Given the description of an element on the screen output the (x, y) to click on. 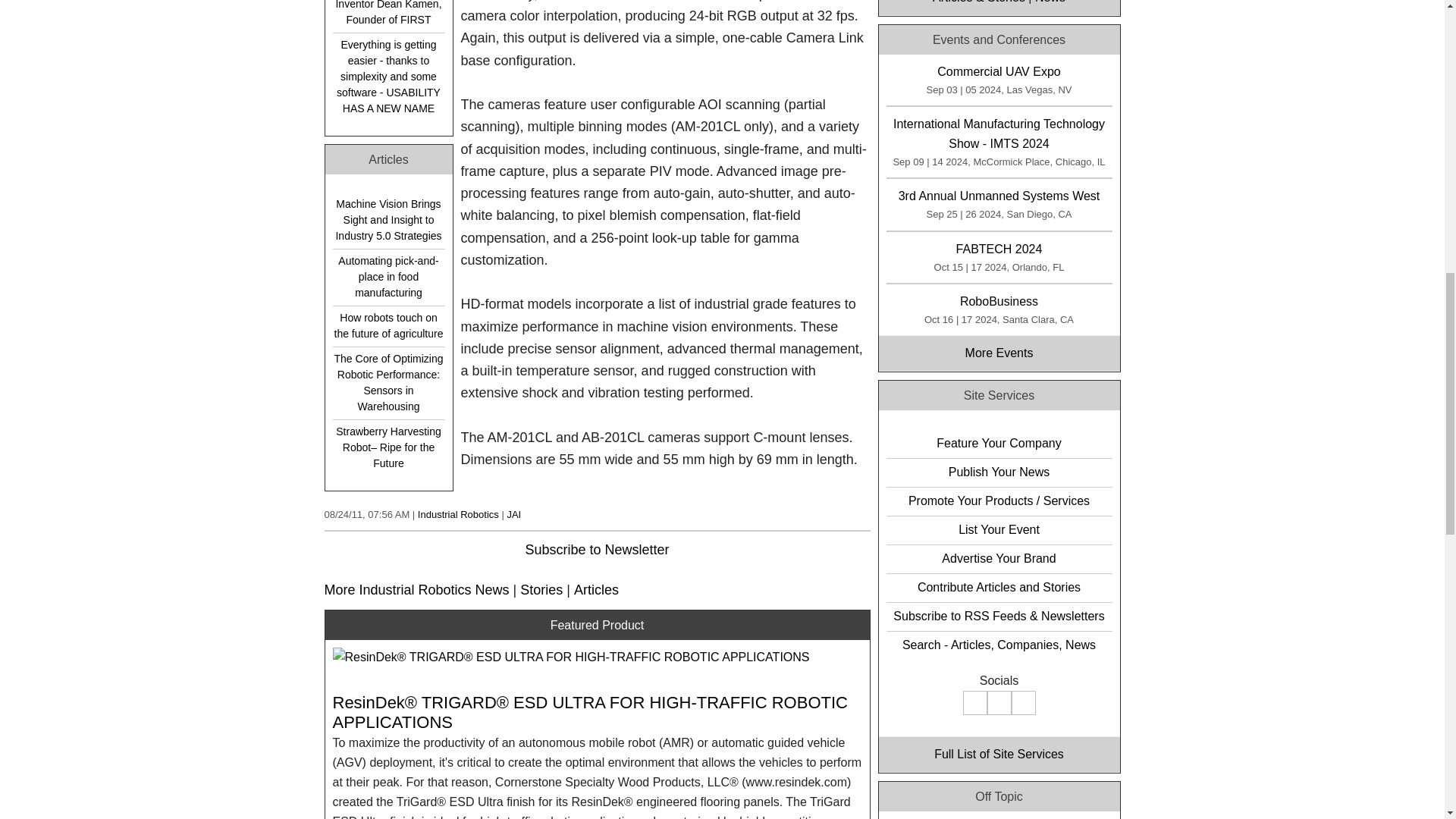
Stories (540, 589)
JAI (513, 514)
Subscribe to Newsletter (596, 549)
Articles (595, 589)
More Industrial Robotics News (416, 589)
Industrial Robotics (458, 514)
Automating pick-and-place in food manufacturing (387, 277)
How robots touch on the future of agriculture (387, 326)
